Given the description of an element on the screen output the (x, y) to click on. 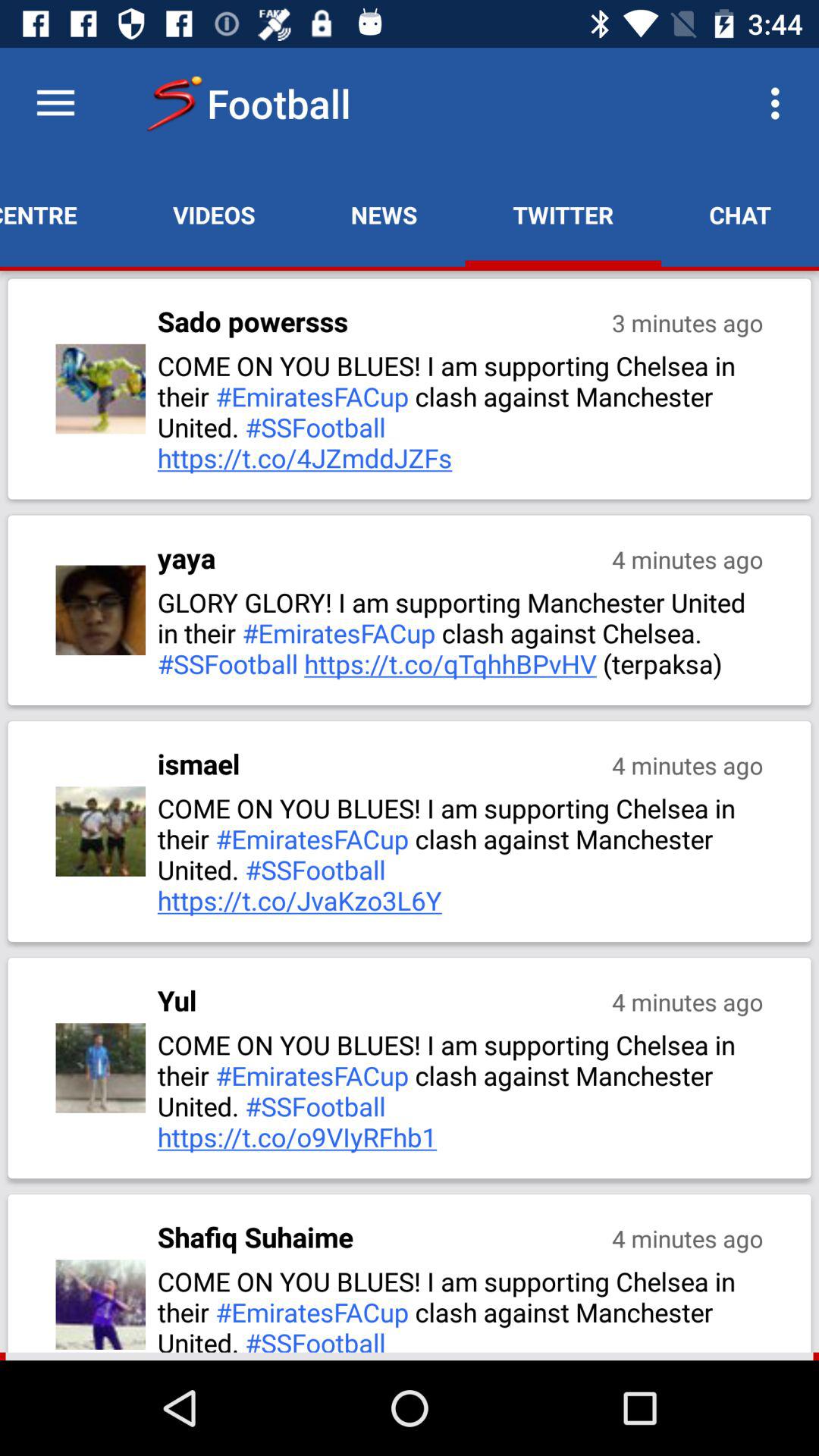
press item next to the twitter app (384, 214)
